Given the description of an element on the screen output the (x, y) to click on. 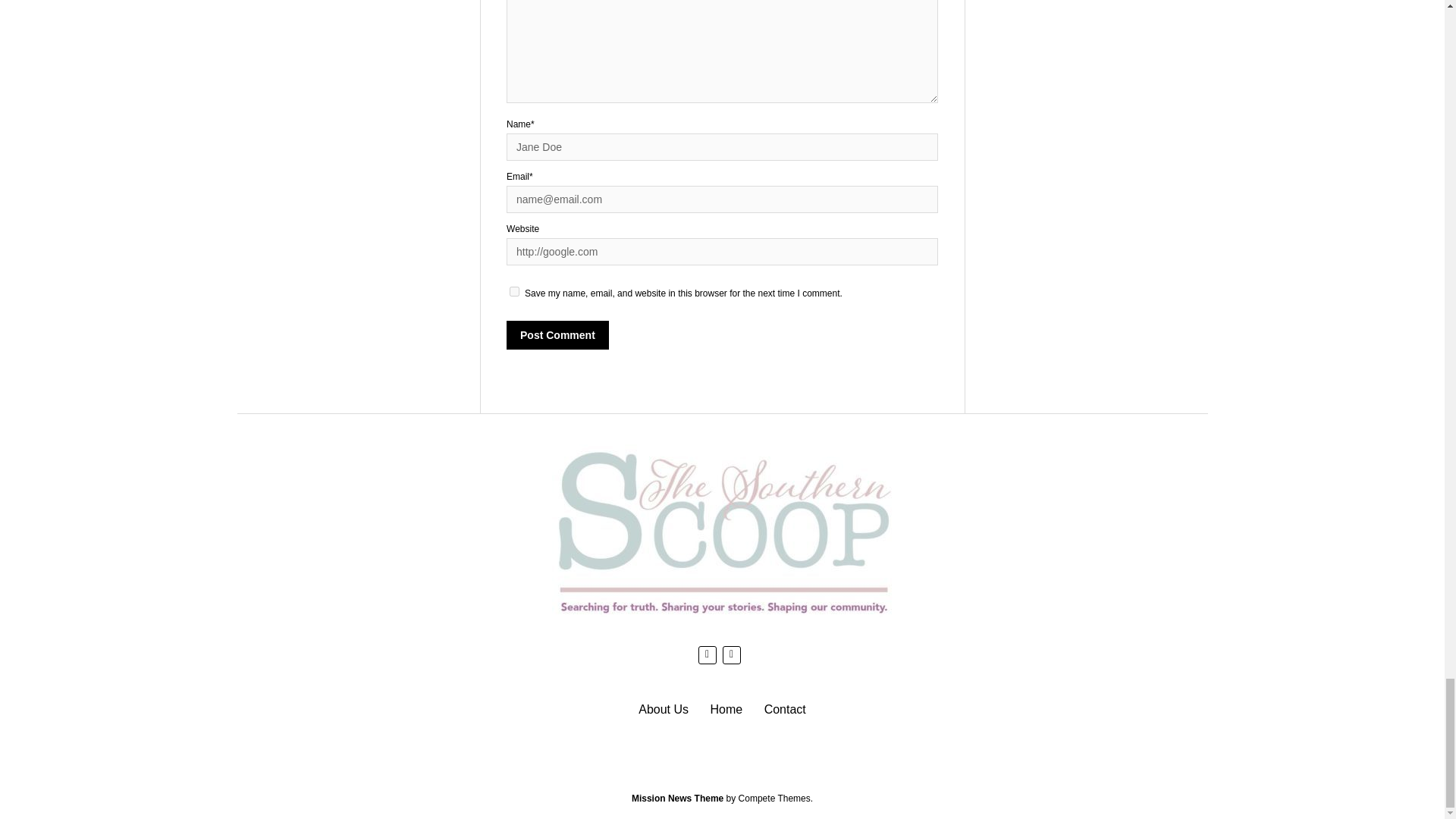
Turning a dream into a reality (663, 708)
yes (514, 291)
Post Comment (557, 334)
